Given the description of an element on the screen output the (x, y) to click on. 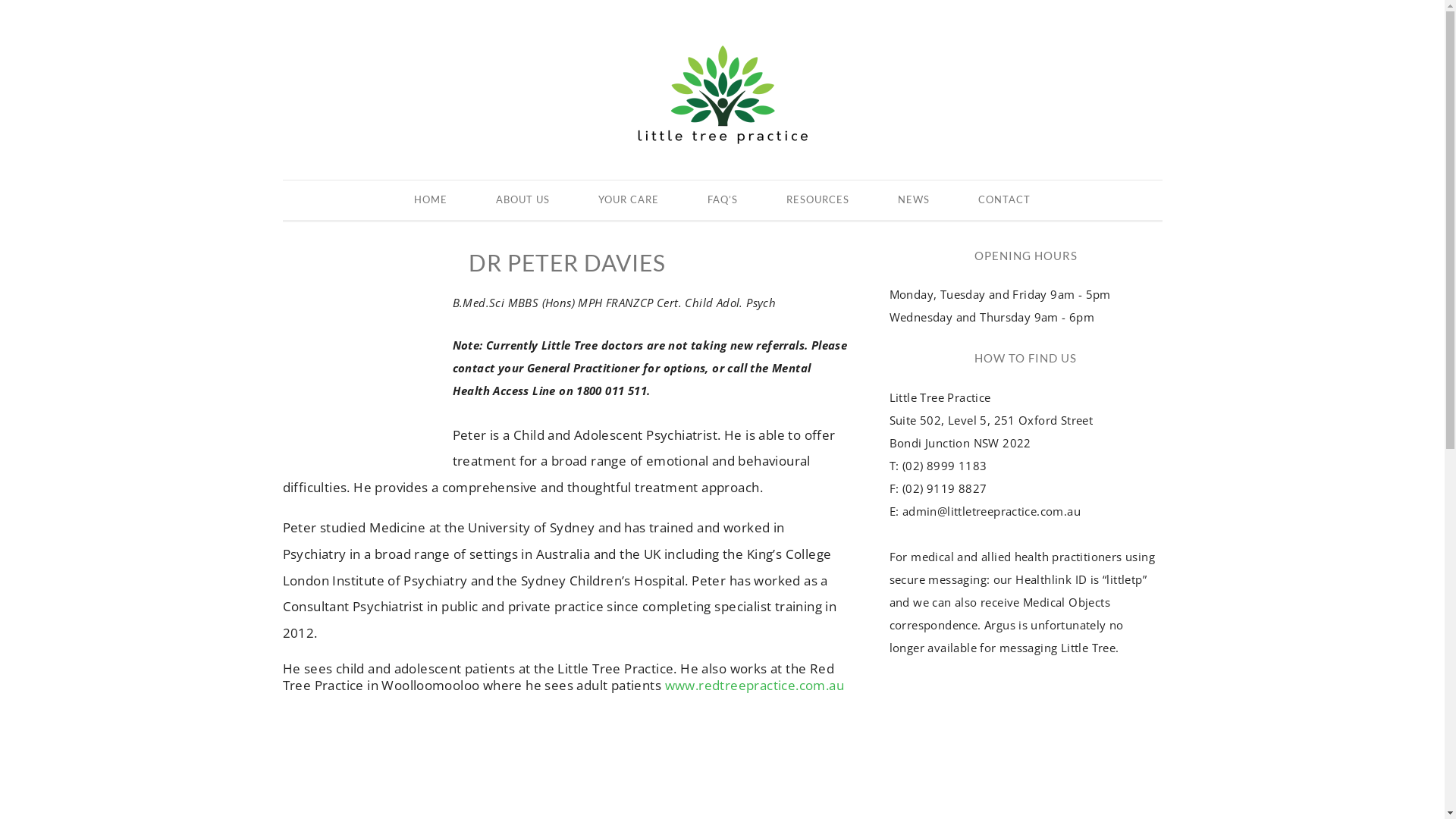
RESOURCES Element type: text (817, 199)
ABOUT US Element type: text (522, 199)
HOME Element type: text (430, 199)
LITTLE TREE PRACTICE Element type: text (722, 92)
CONTACT Element type: text (1004, 199)
NEWS Element type: text (913, 199)
YOUR CARE Element type: text (628, 199)
www.redtreepractice.com.au Element type: text (754, 684)
